Given the description of an element on the screen output the (x, y) to click on. 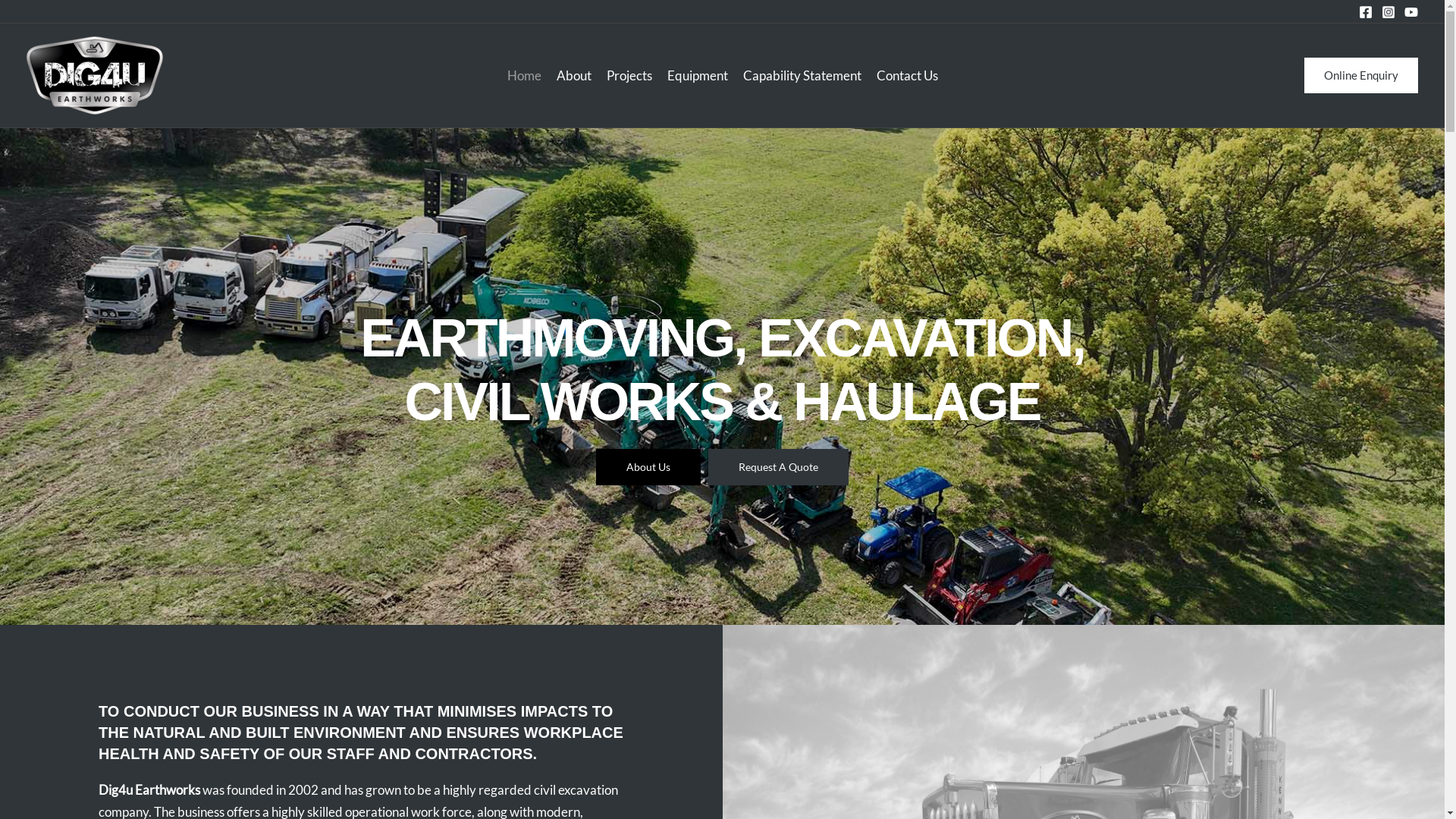
Capability Statement Element type: text (802, 74)
Online Enquiry Element type: text (1361, 75)
Equipment Element type: text (697, 74)
Contact Us Element type: text (907, 74)
About Us Element type: text (648, 466)
Request A Quote Element type: text (778, 466)
Projects Element type: text (629, 74)
Home Element type: text (523, 74)
About Element type: text (574, 74)
